Given the description of an element on the screen output the (x, y) to click on. 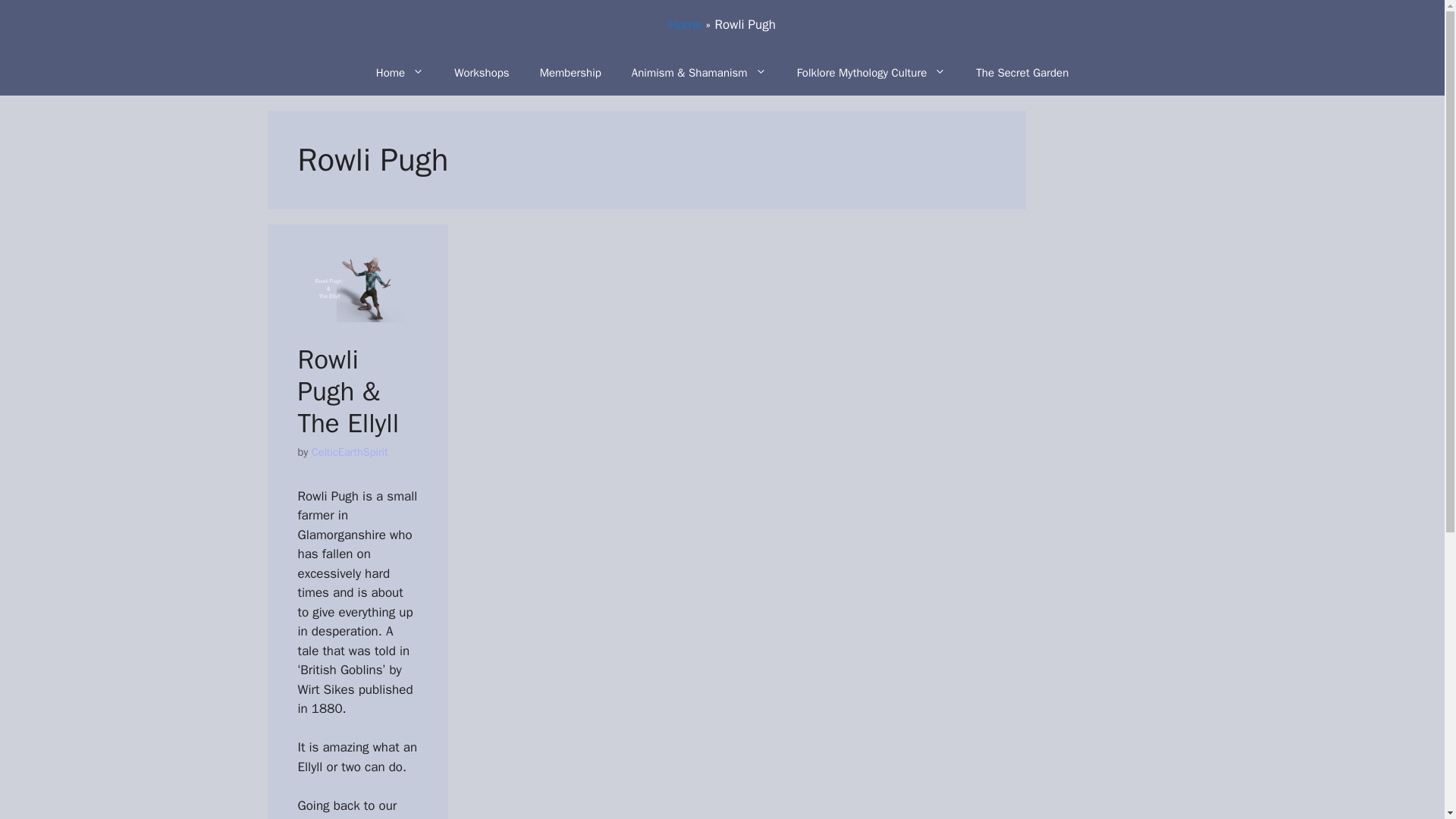
Membership (569, 72)
Home (684, 24)
CelticEarthSpirit (349, 451)
Workshops (481, 72)
The Secret Garden (1021, 72)
Folklore Mythology Culture (870, 72)
View all posts by CelticEarthSpirit (349, 451)
Home (400, 72)
